Given the description of an element on the screen output the (x, y) to click on. 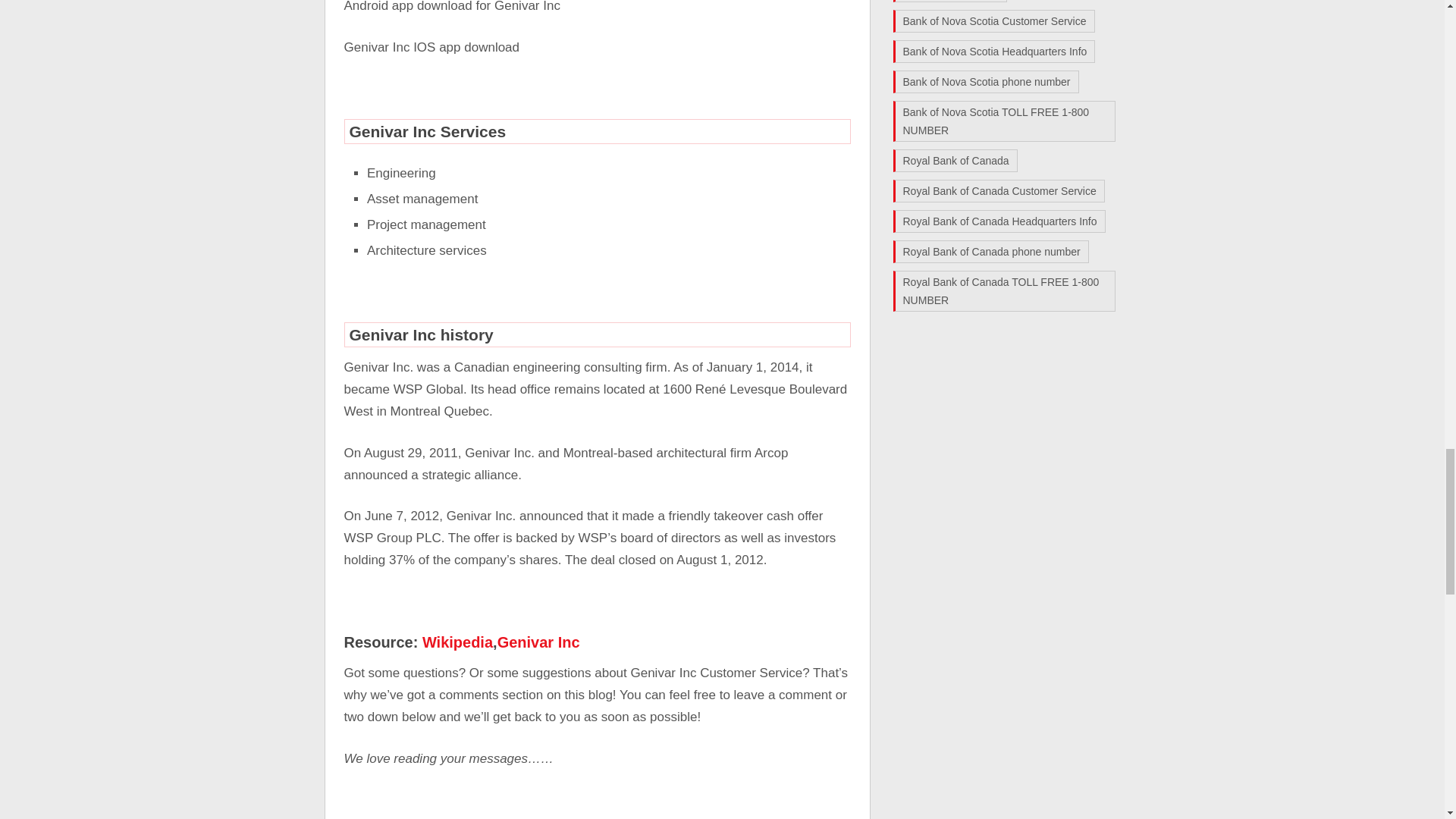
Wikipedia (457, 641)
Genivar Inc (538, 641)
